Given the description of an element on the screen output the (x, y) to click on. 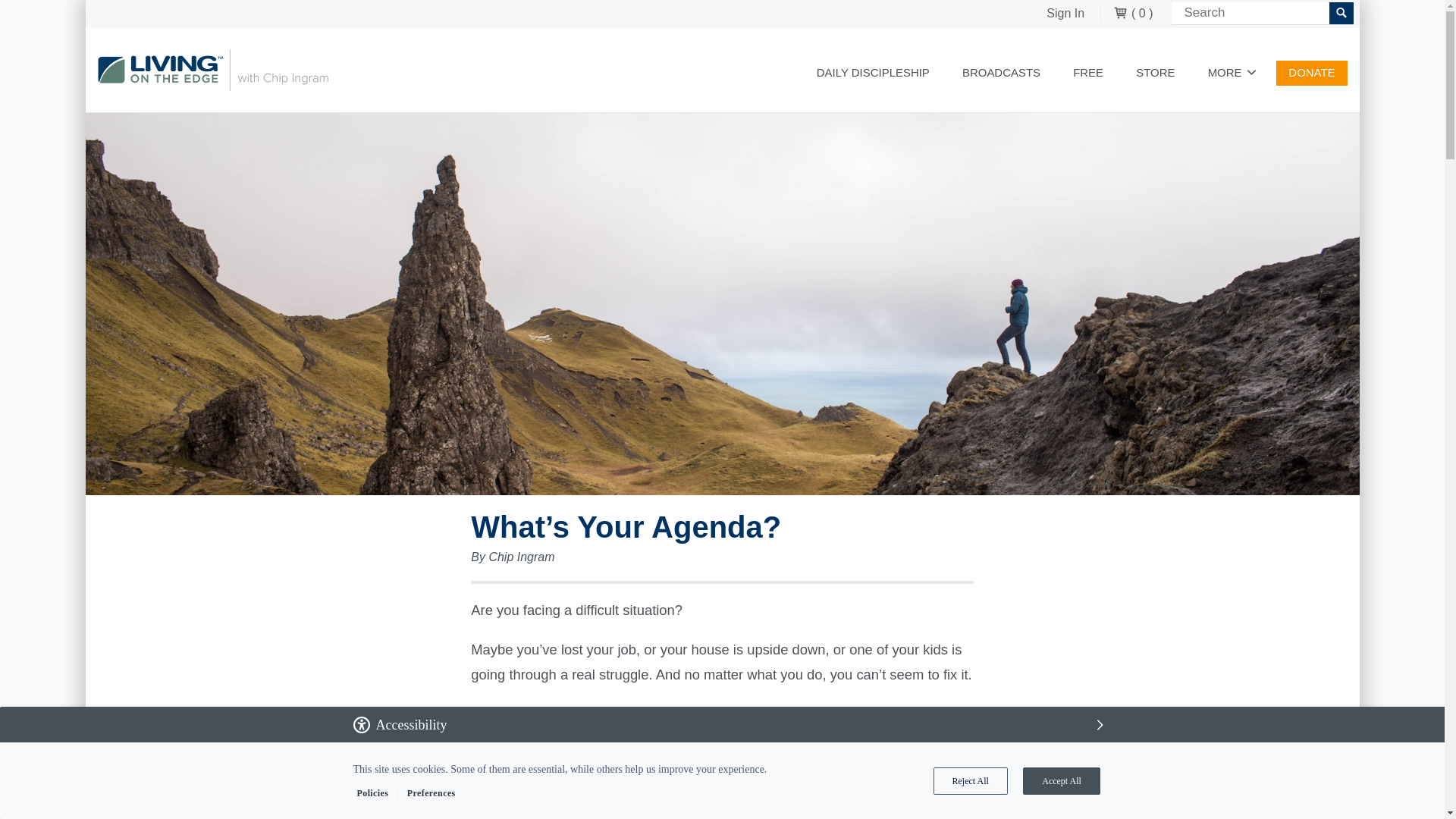
View your shopping cart (1133, 13)
Search for: (1261, 13)
Sign In (1064, 13)
Listen Online (1001, 73)
DAILY DISCIPLESHIP (873, 73)
Free Resources (1088, 73)
Store (1155, 73)
FREE (1088, 73)
Living on the Edge (212, 69)
DONATE (1311, 72)
STORE (1155, 73)
MORE (1231, 73)
More (1231, 73)
BROADCASTS (1001, 73)
